Given the description of an element on the screen output the (x, y) to click on. 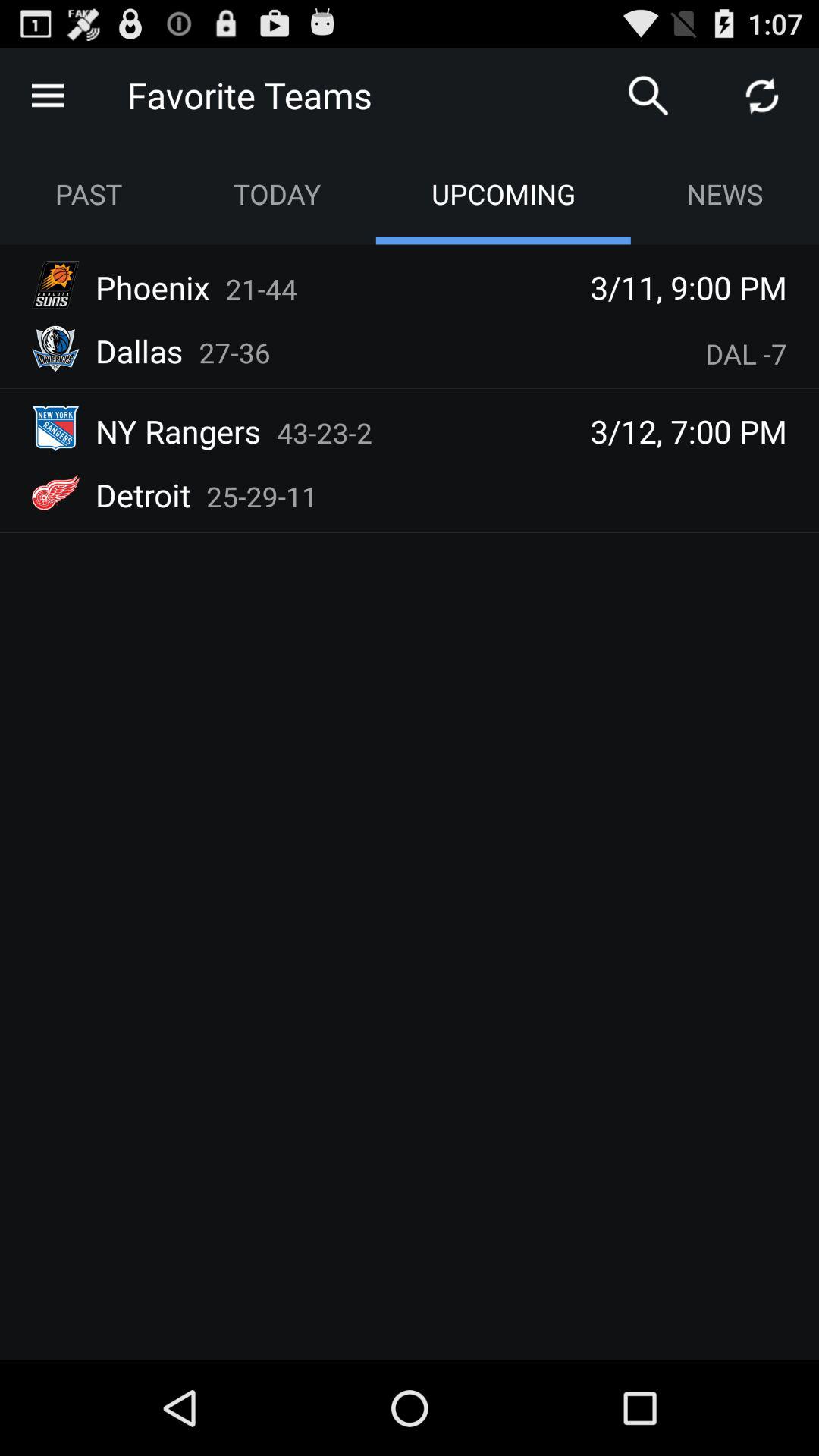
go to icon right to search (762, 95)
choose the option right side of today (502, 193)
click on the option right side of upcoming (724, 193)
